Given the description of an element on the screen output the (x, y) to click on. 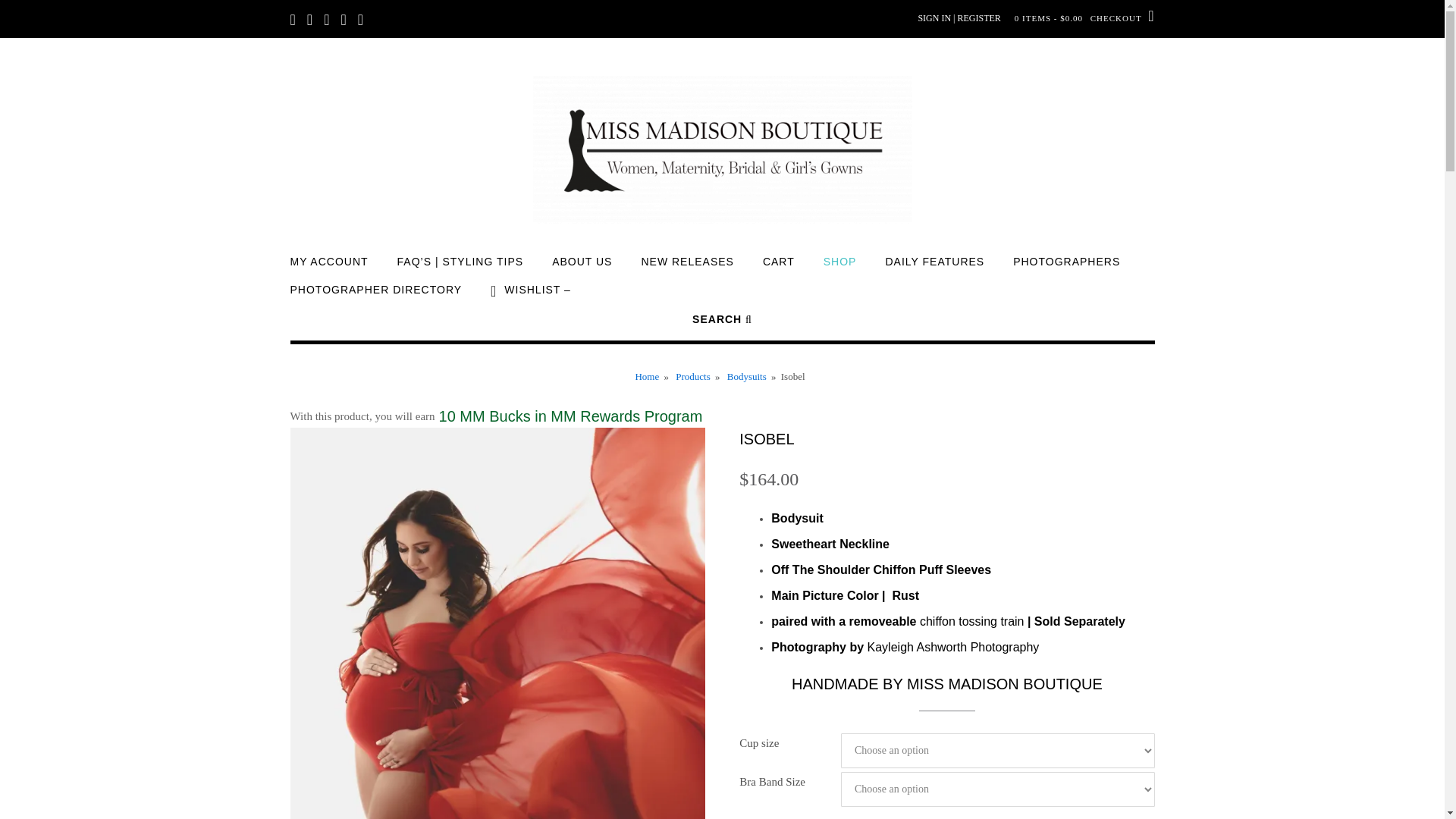
SHOP (840, 268)
MY ACCOUNT (328, 268)
ABOUT US (581, 268)
NEW RELEASES (686, 268)
CART (778, 268)
